Given the description of an element on the screen output the (x, y) to click on. 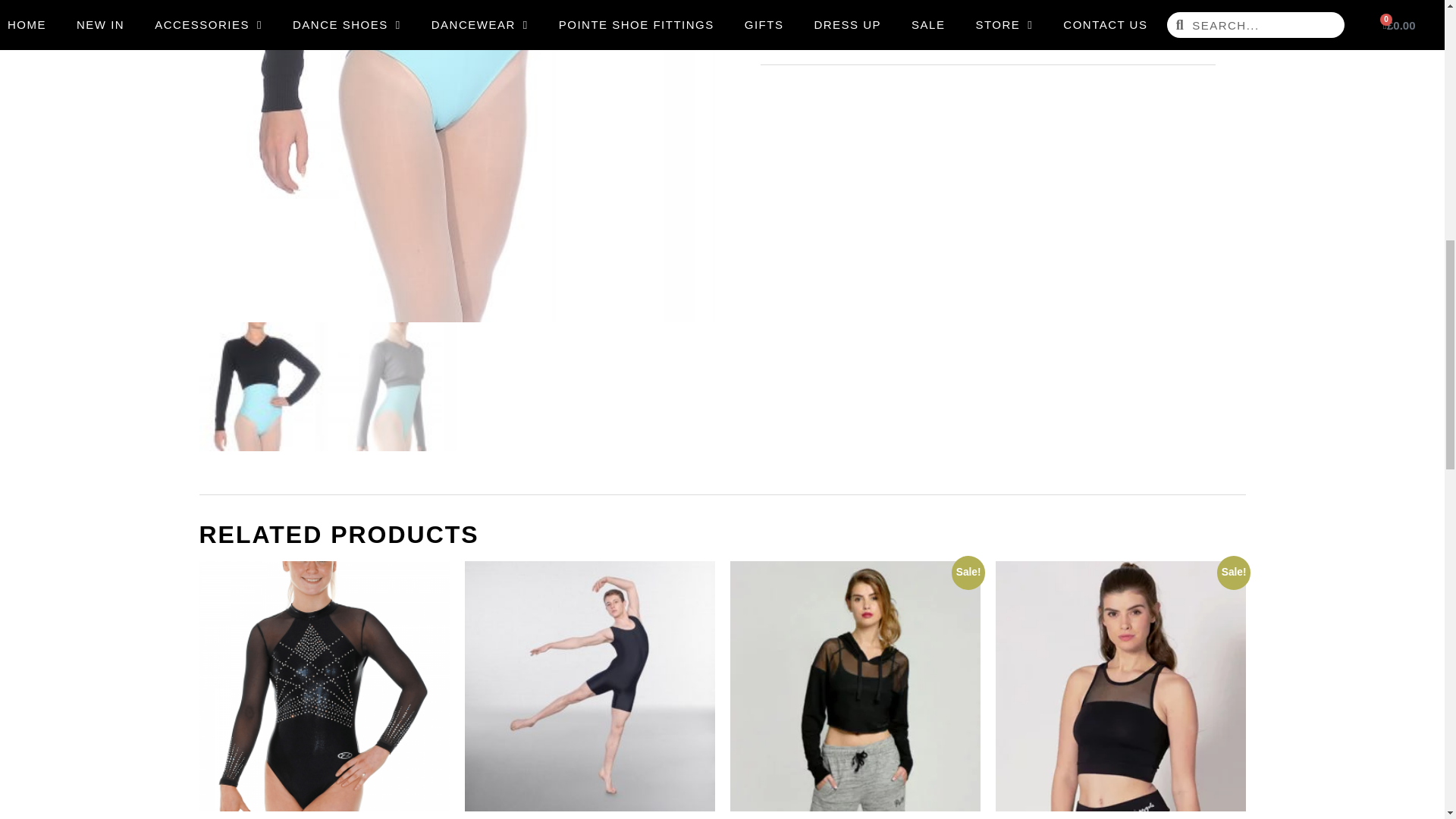
PayPal (987, 24)
1 (781, 2)
